Given the description of an element on the screen output the (x, y) to click on. 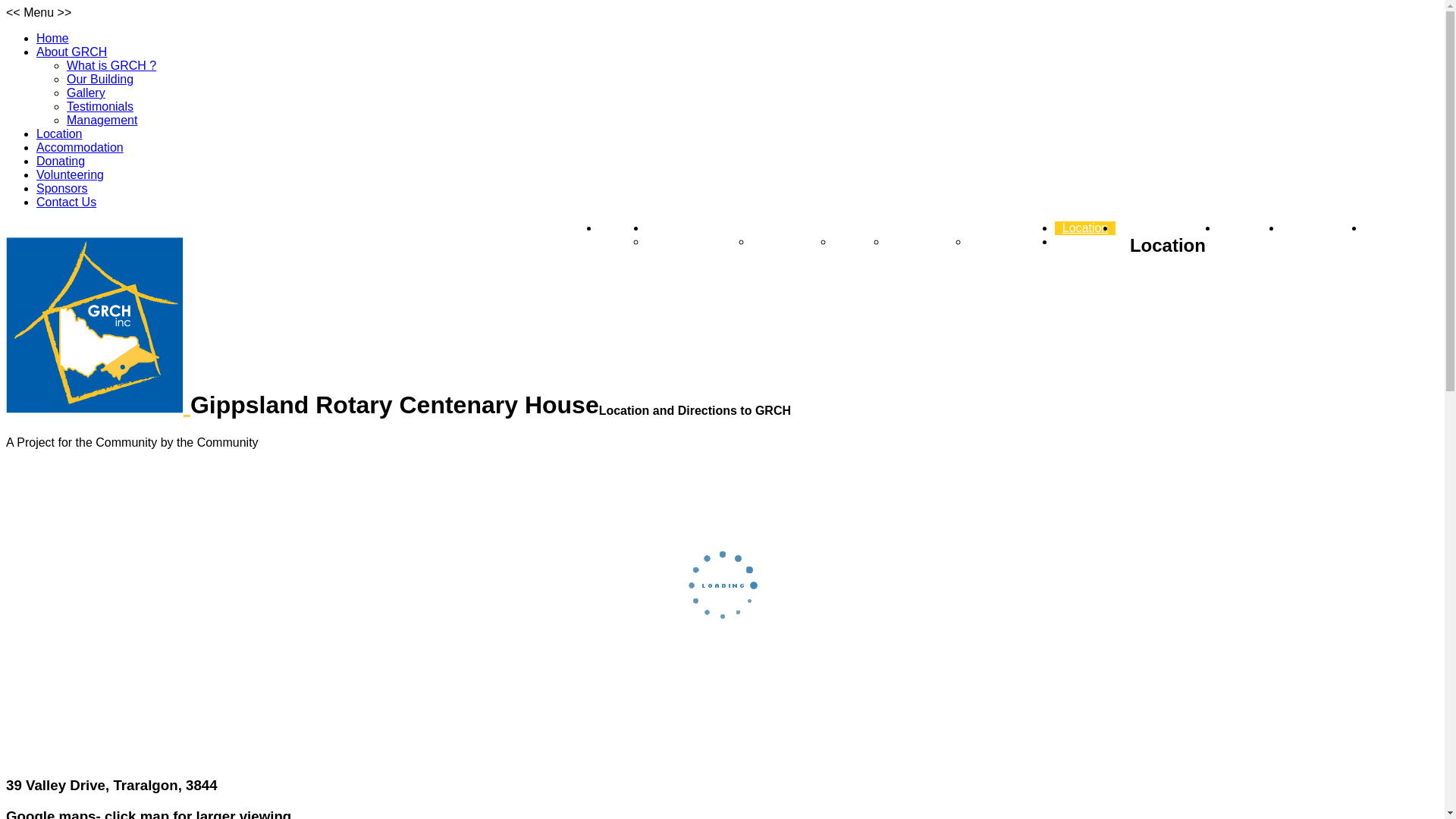
About GRCH Element type: text (688, 227)
Management Element type: text (1011, 241)
What is GRCH ? Element type: text (698, 241)
Our Building Element type: text (792, 241)
Accommodation Element type: text (79, 147)
Accommodation Element type: text (1166, 227)
About GRCH Element type: text (71, 51)
Our Building Element type: text (99, 78)
Volunteering Element type: text (1322, 227)
Gallery Element type: text (860, 241)
Home Element type: text (52, 37)
Sponsors Element type: text (1397, 227)
Donating Element type: text (1249, 227)
Testimonials Element type: text (927, 241)
Contact Us Element type: text (1091, 241)
Home Element type: text (622, 227)
Sponsors Element type: text (61, 188)
What is GRCH ? Element type: text (111, 65)
Location Element type: text (59, 133)
Contact Us Element type: text (66, 201)
Location Element type: text (1085, 227)
Volunteering Element type: text (69, 174)
Gallery Element type: text (85, 92)
Testimonials Element type: text (99, 106)
Management Element type: text (101, 119)
Donating Element type: text (60, 160)
